Given the description of an element on the screen output the (x, y) to click on. 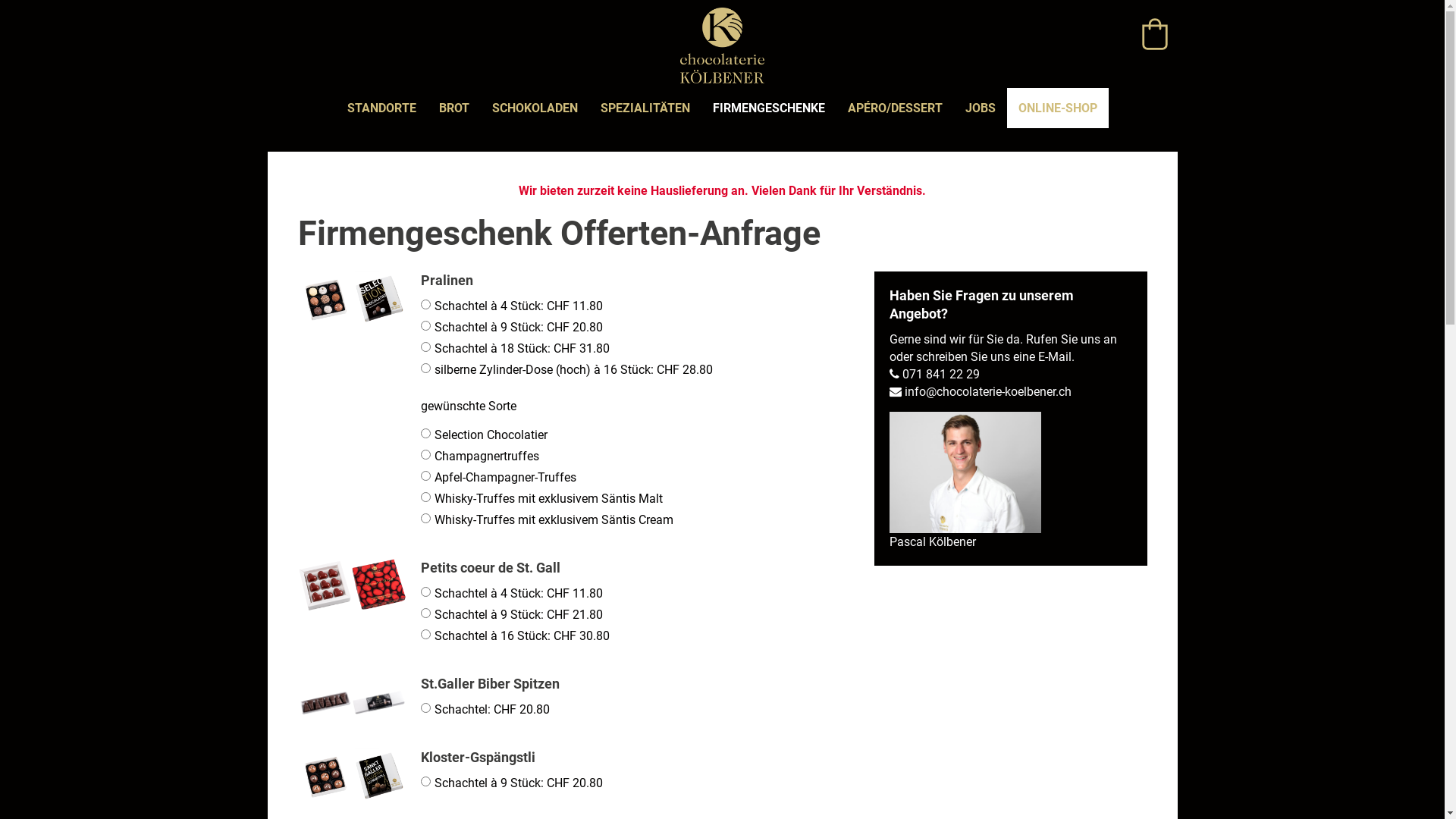
SCHOKOLADEN Element type: text (534, 107)
071 841 22 29 Element type: text (933, 374)
ONLINE-SHOP Element type: text (1057, 107)
BROT Element type: text (453, 107)
STANDORTE Element type: text (381, 107)
info@chocolaterie-koelbener.ch Element type: text (979, 391)
JOBS Element type: text (980, 107)
FIRMENGESCHENKE Element type: text (768, 107)
